Given the description of an element on the screen output the (x, y) to click on. 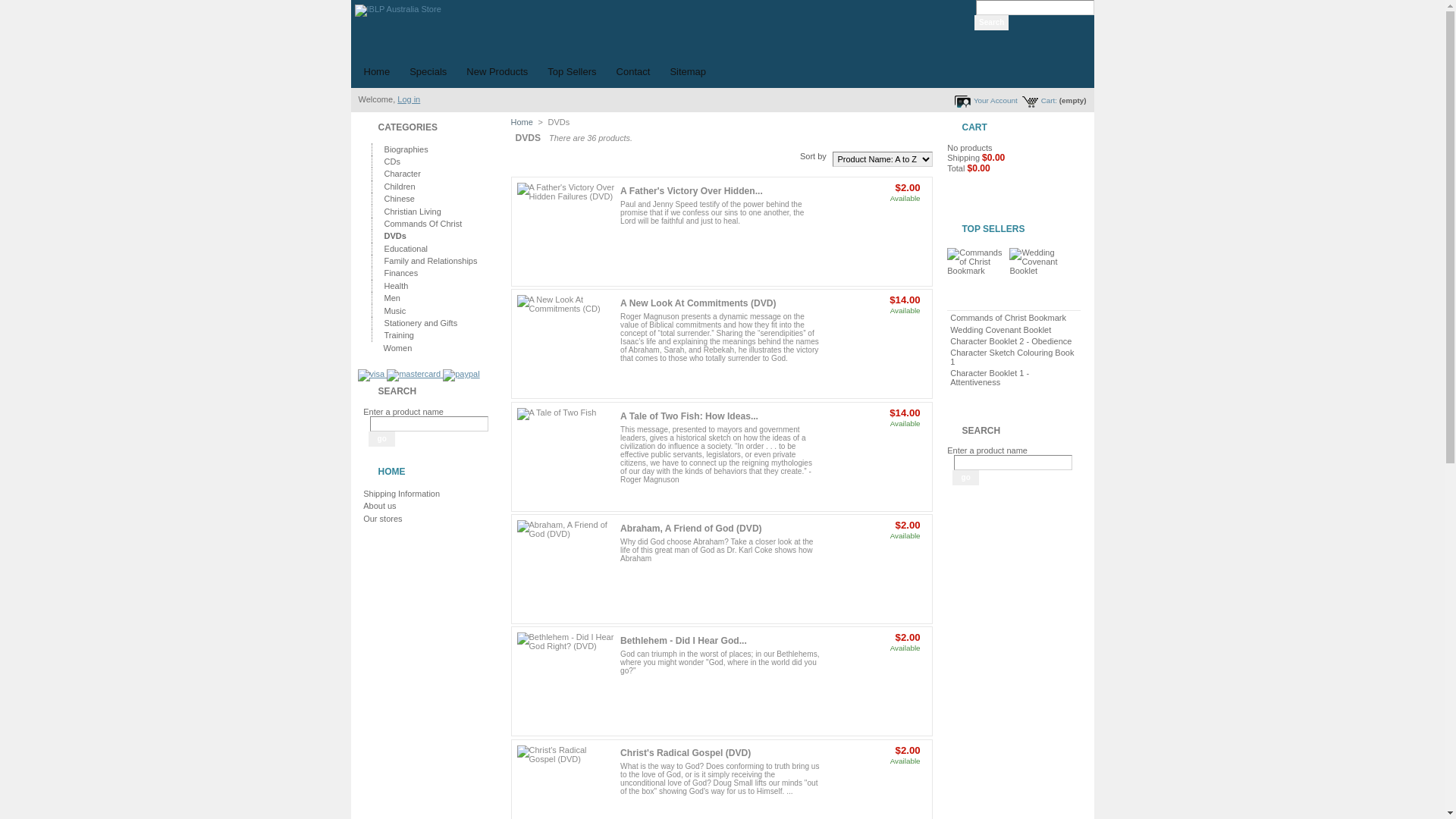
Add to cart Element type: text (873, 776)
HOME Element type: text (390, 471)
A Father's Victory Over Hidden... Element type: text (691, 190)
Search Element type: text (991, 22)
View Element type: text (873, 344)
Home Element type: text (376, 71)
Music Element type: text (393, 310)
Character Booklet 2 - Obedience Element type: text (1010, 340)
Training Element type: text (398, 334)
View Element type: text (873, 682)
DVDs Element type: text (394, 235)
Chinese Element type: text (398, 198)
New Products Element type: text (496, 71)
Women Element type: text (396, 347)
Shipping Information Element type: text (401, 493)
View Element type: text (873, 457)
A Tale of Two Fish: How Ideas... Element type: text (689, 416)
CART Element type: text (973, 127)
Add to cart Element type: text (873, 663)
Our stores Element type: text (382, 518)
CDs Element type: text (391, 161)
View Element type: text (873, 232)
Check out Element type: text (992, 195)
View Element type: text (873, 569)
Christ's Radical Gospel (DVD) Element type: text (685, 752)
Commands Of Christ Element type: text (421, 223)
Character Sketch Colouring Book 1 Element type: text (1011, 357)
Abraham, A Friend of God (DVD) Element type: text (691, 528)
Stationery and Gifts Element type: text (419, 322)
Cart: Element type: text (1039, 100)
Add to cart Element type: text (873, 213)
Christian Living Element type: text (411, 211)
Men Element type: text (391, 297)
View Element type: text (873, 795)
go Element type: text (965, 477)
Wedding Covenant Booklet Element type: text (1000, 329)
A Father's Victory Over Hidden Failures (DVD) Element type: hover (565, 231)
Top Sellers Element type: text (571, 71)
Bethlehem - Did I Hear God Right? (DVD) Element type: hover (565, 681)
All best sellers Element type: text (1012, 396)
Add to cart Element type: text (873, 438)
TOP SELLERS Element type: text (992, 228)
Log in Element type: text (408, 98)
Add to cart Element type: text (873, 325)
go Element type: text (381, 438)
Specials Element type: text (427, 71)
Your Account Element type: text (985, 100)
Home Element type: text (522, 121)
Sitemap Element type: text (687, 71)
Family and Relationships Element type: text (429, 260)
A New Look At Commitments (DVD) Element type: text (697, 303)
Character Booklet 1 - Attentiveness Element type: text (989, 377)
A New Look At Commitments (DVD) Element type: hover (565, 343)
Cart Element type: text (969, 180)
Contact Element type: text (633, 71)
Abraham, A Friend of God (DVD) Element type: hover (565, 568)
Finances Element type: text (399, 272)
Character Element type: text (401, 173)
Add to cart Element type: text (873, 550)
Biographies Element type: text (404, 148)
About us Element type: text (379, 505)
Educational Element type: text (404, 248)
Children Element type: text (398, 186)
Health Element type: text (394, 285)
Commands of Christ Bookmark Element type: text (1008, 317)
A Tale of Two Fish: How Ideas Influence Events (DVD) Element type: hover (565, 456)
Bethlehem - Did I Hear God... Element type: text (683, 640)
